Given the description of an element on the screen output the (x, y) to click on. 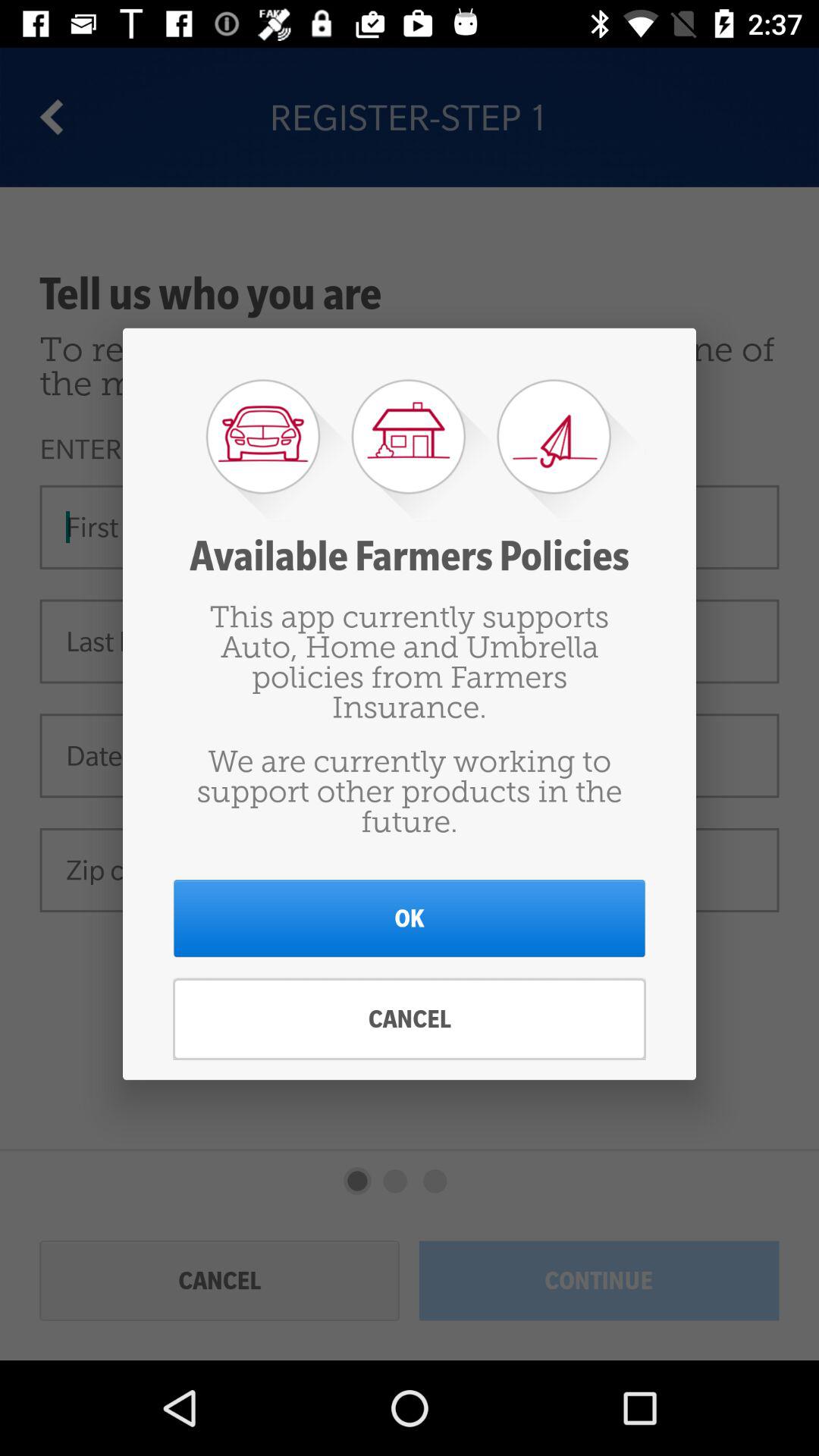
select the item above the cancel item (409, 918)
